Given the description of an element on the screen output the (x, y) to click on. 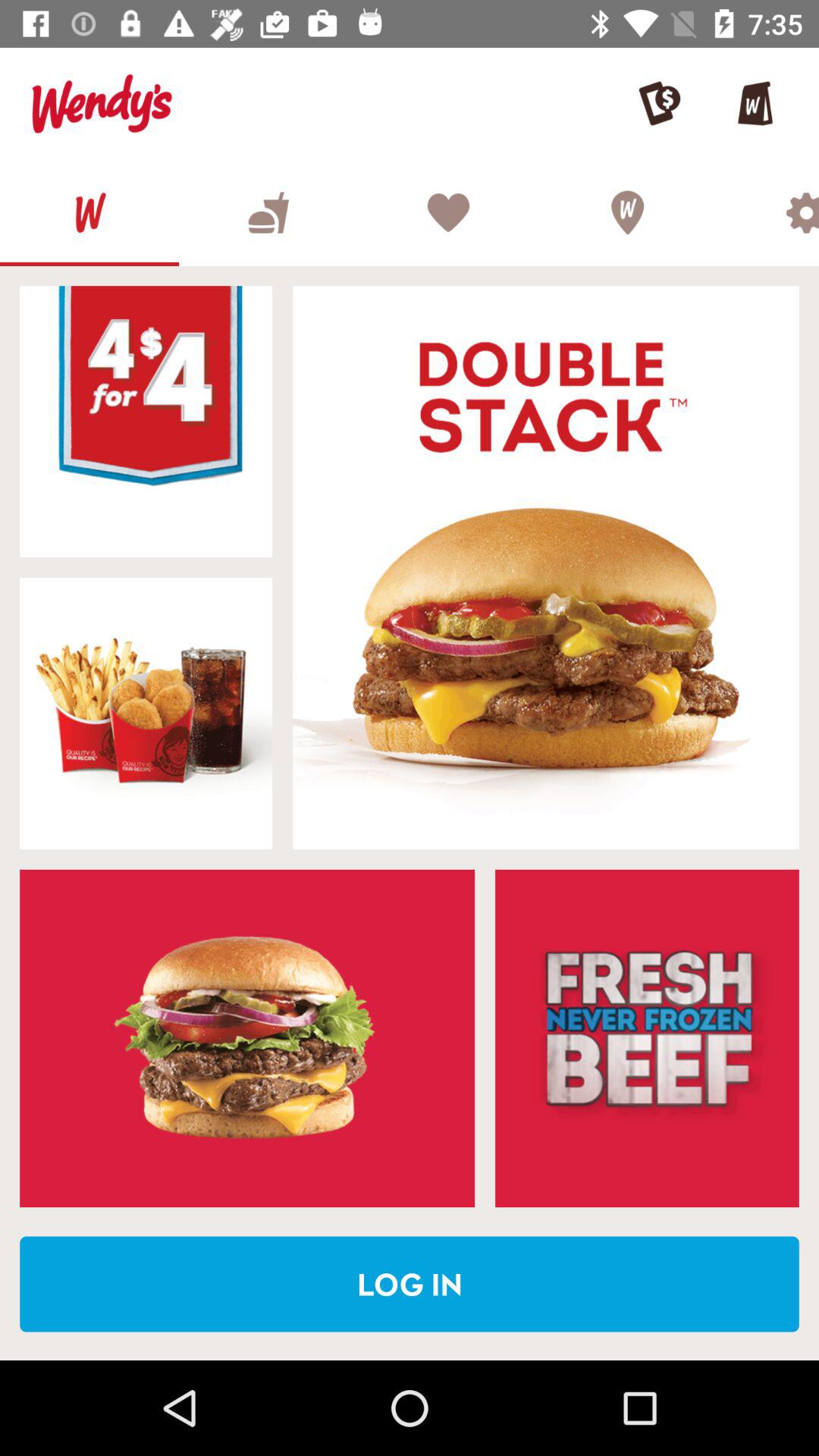
go to the shown sandwich (246, 1038)
